Given the description of an element on the screen output the (x, y) to click on. 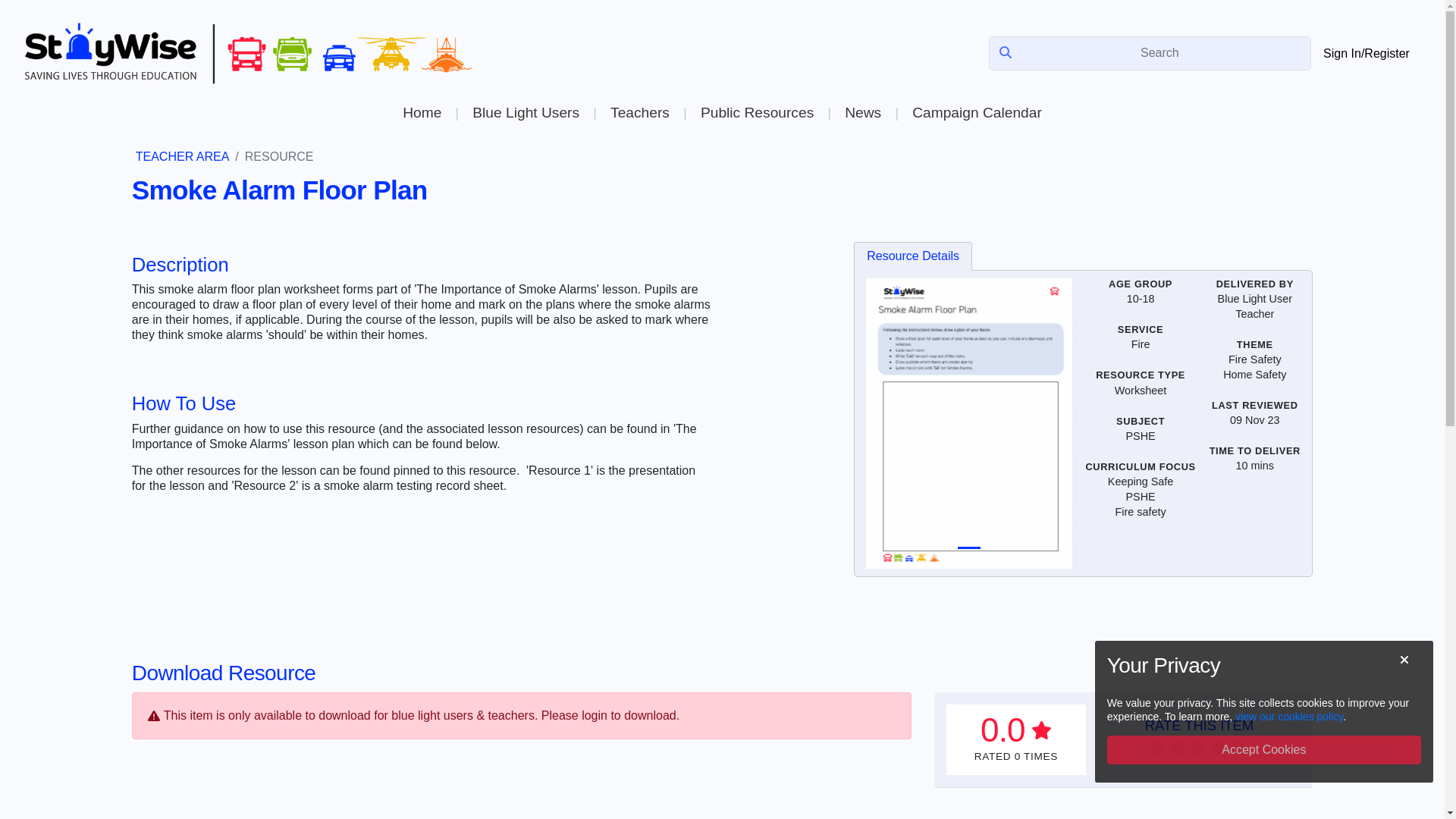
Blue Light Users (525, 112)
News (862, 112)
Campaign Calendar (976, 112)
TEACHER AREA (182, 155)
Home (421, 112)
Public Resources (756, 112)
Resource Details (912, 256)
view our cookies policy (1288, 715)
Teachers (639, 112)
Accept Cookies (1263, 749)
